Given the description of an element on the screen output the (x, y) to click on. 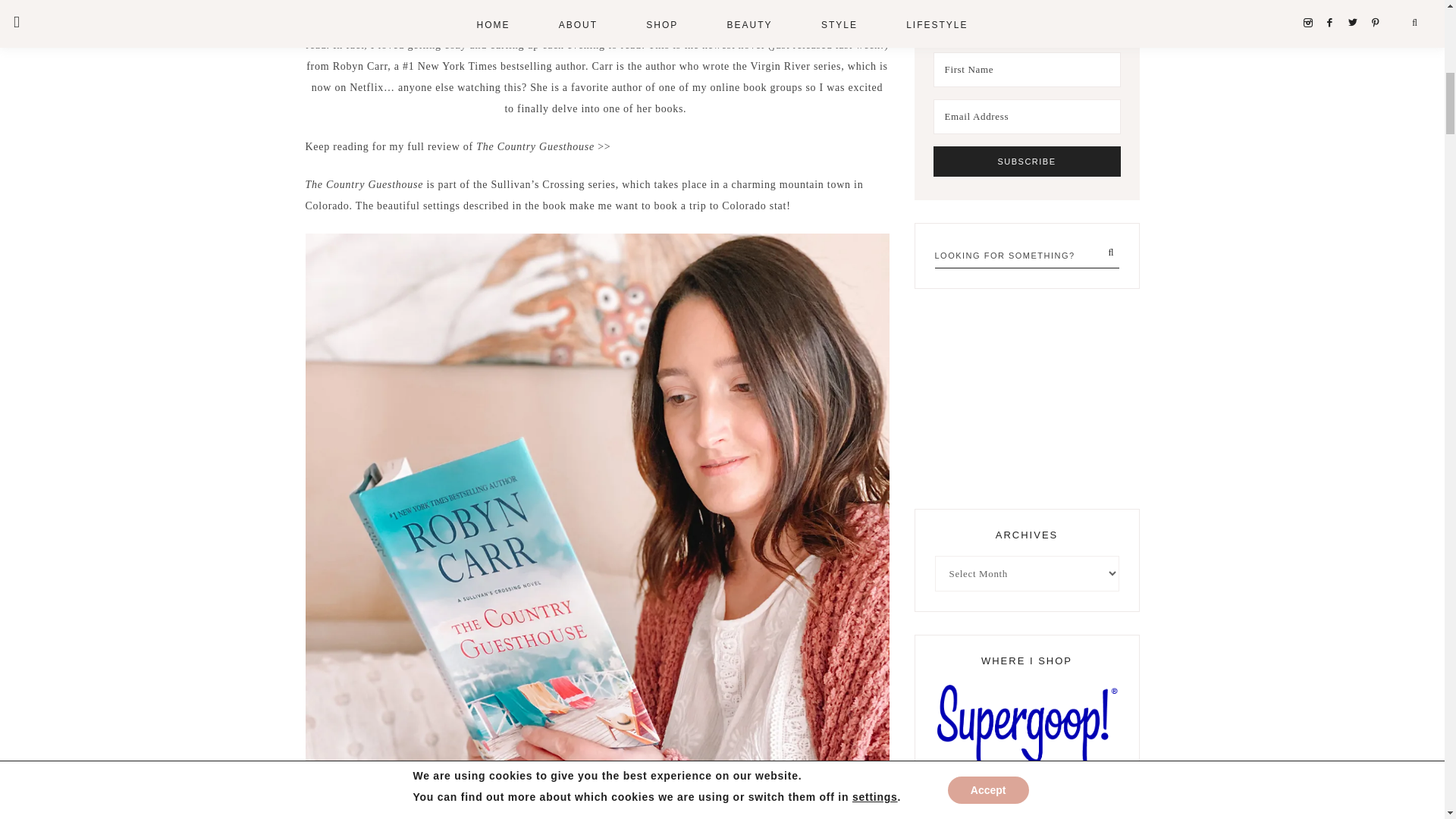
Subscribe (1026, 161)
